Given the description of an element on the screen output the (x, y) to click on. 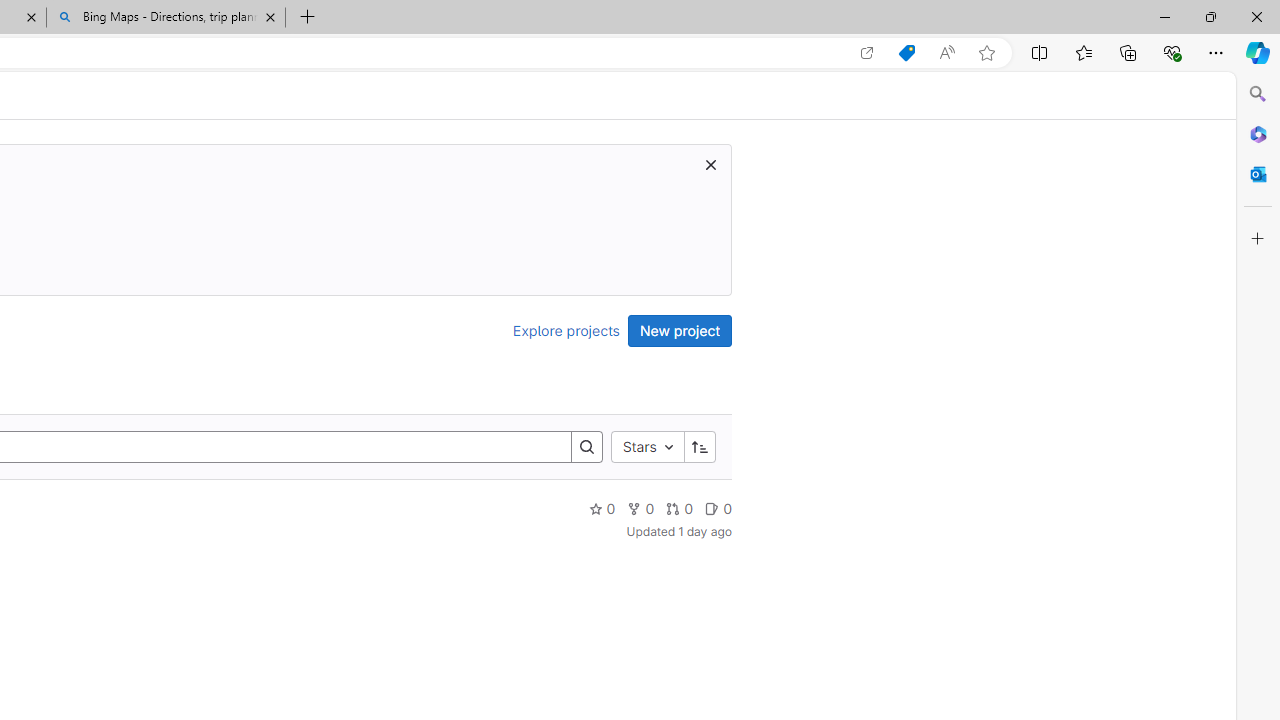
Sort direction: Ascending (699, 445)
Open in app (867, 53)
New project (680, 330)
Dismiss trial promotion (710, 164)
